Given the description of an element on the screen output the (x, y) to click on. 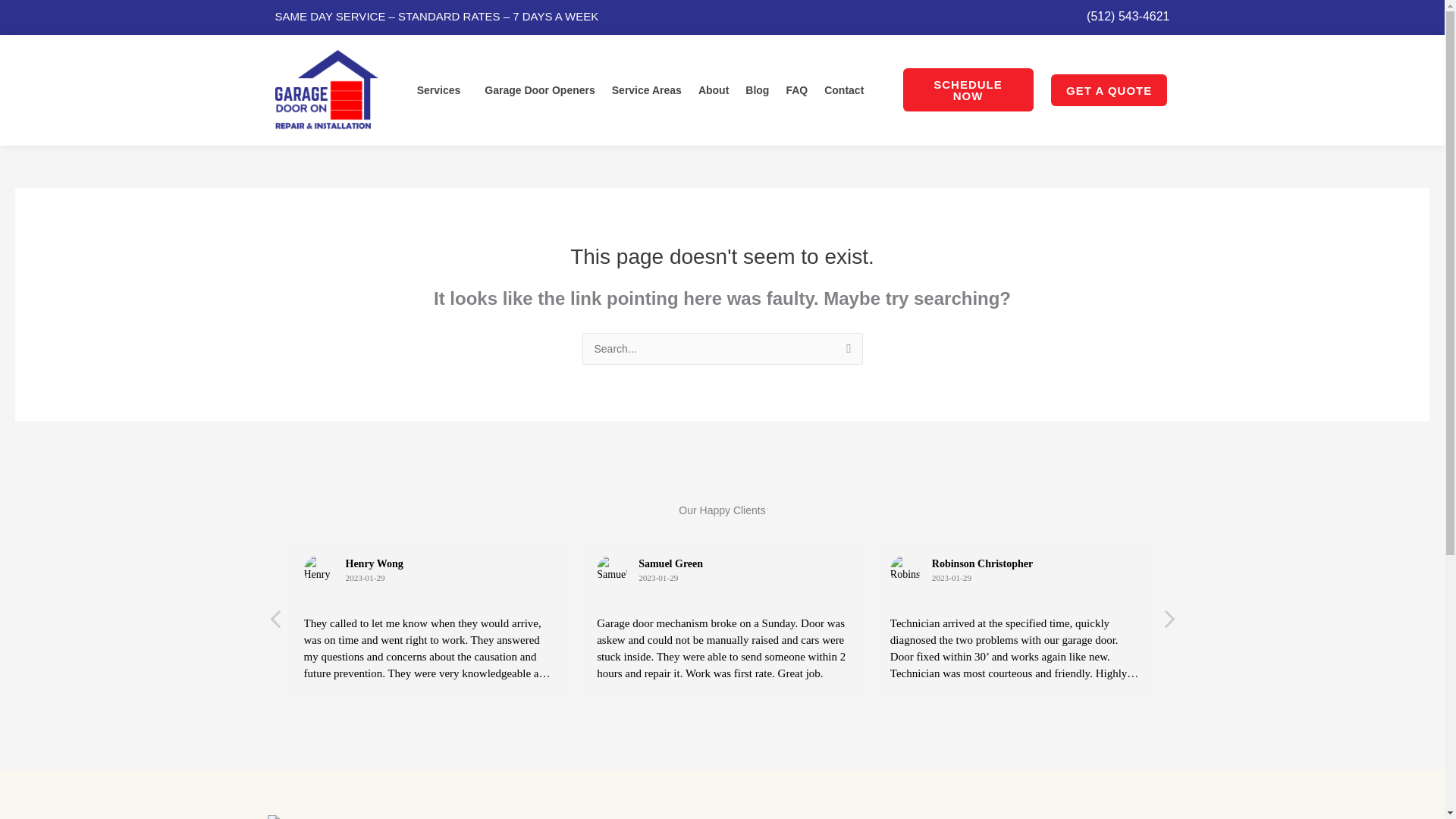
Search (844, 352)
Blog (756, 90)
Search (844, 352)
Service Areas (647, 90)
About (713, 90)
Garage Door Openers (540, 90)
Search (844, 352)
FAQ (796, 90)
Contact (843, 90)
GET A QUOTE (1109, 90)
Services (443, 90)
SCHEDULE NOW (967, 89)
